Given the description of an element on the screen output the (x, y) to click on. 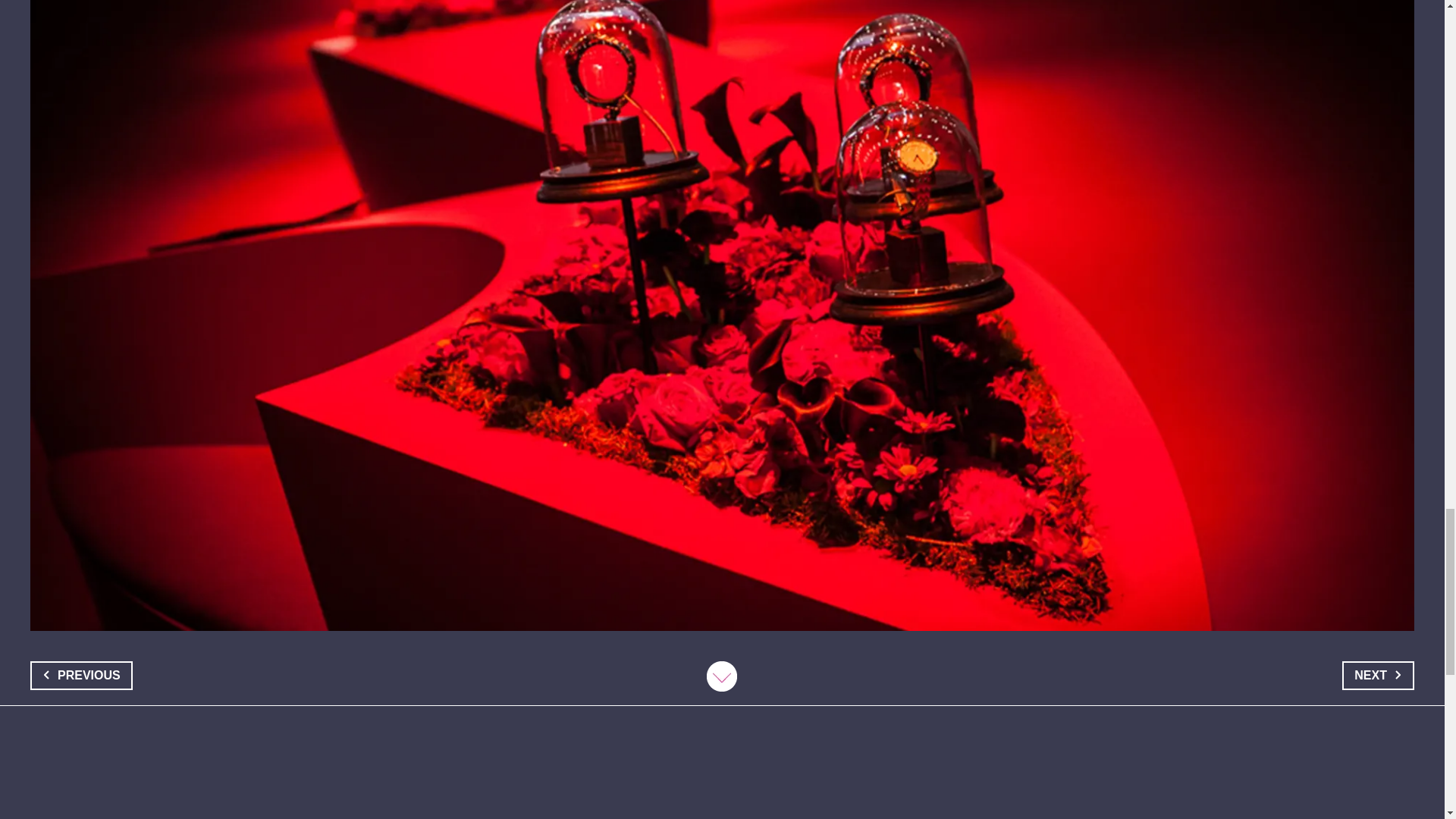
scroll down (721, 675)
